Given the description of an element on the screen output the (x, y) to click on. 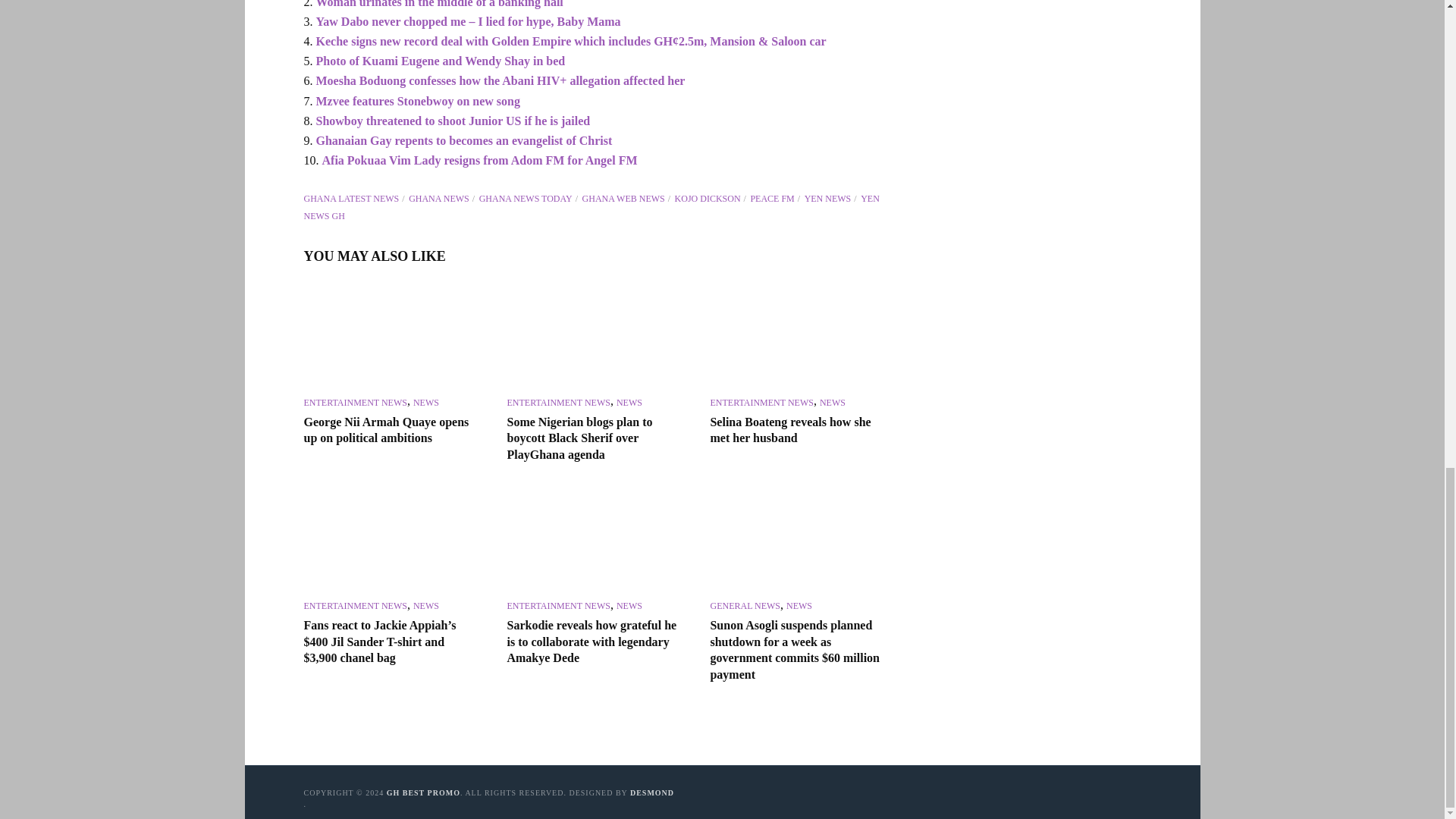
Photo of Kuami Eugene and Wendy Shay in bed (439, 60)
Woman urinates in the middle of a banking hall (438, 4)
Mzvee features Stonebwoy on new song (417, 101)
Showboy threatened to shoot Junior US if he is jailed (452, 120)
Woman urinates in the middle of a banking hall (438, 4)
George Nii Armah Quaye opens up on political ambitions (390, 335)
Ghanaian Gay repents to becomes an evangelist of Christ (463, 140)
Photo of Kuami Eugene and Wendy Shay in bed (439, 60)
Mzvee features Stonebwoy on new song (417, 101)
